Given the description of an element on the screen output the (x, y) to click on. 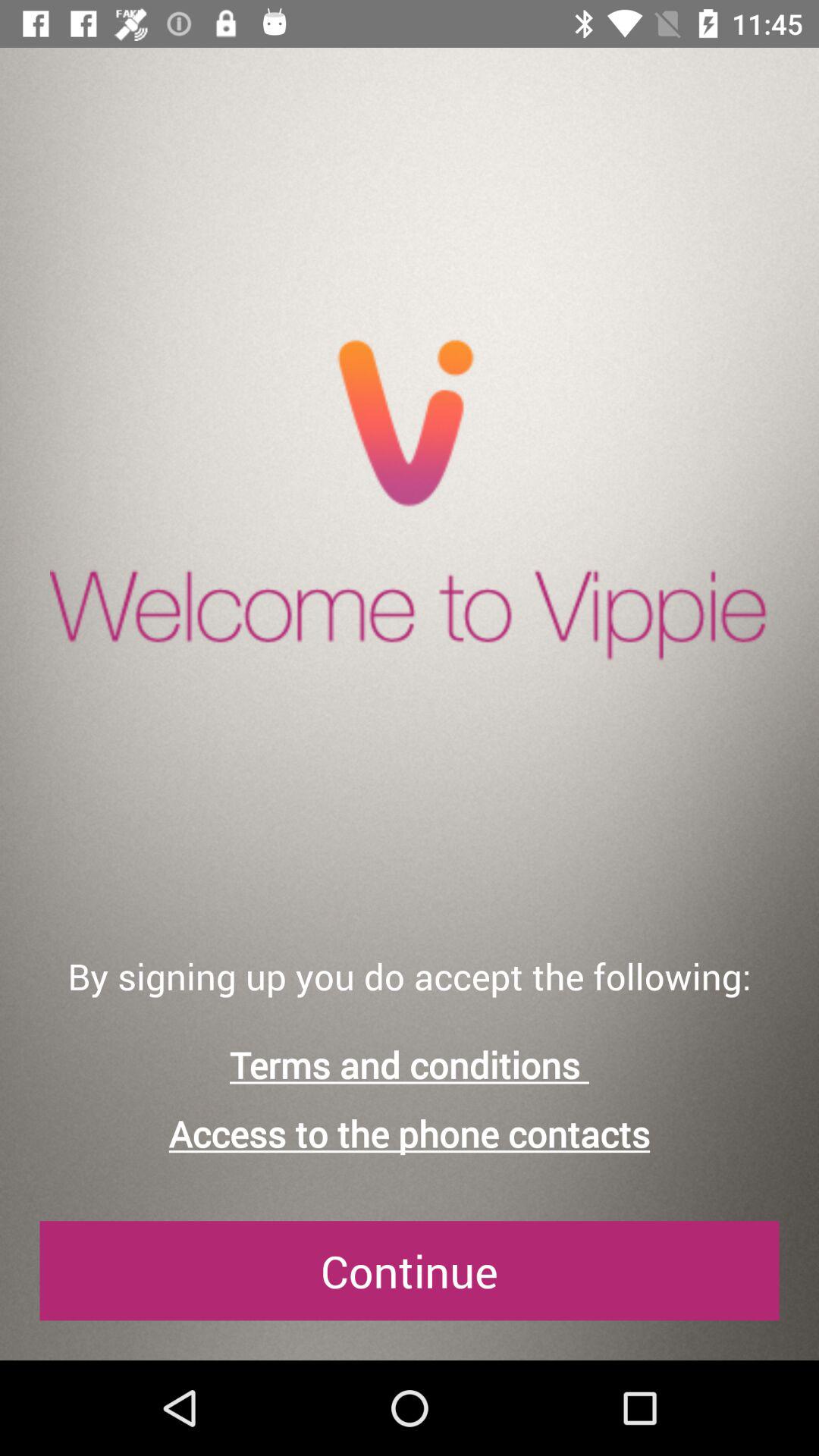
flip until terms and conditions (409, 1064)
